Given the description of an element on the screen output the (x, y) to click on. 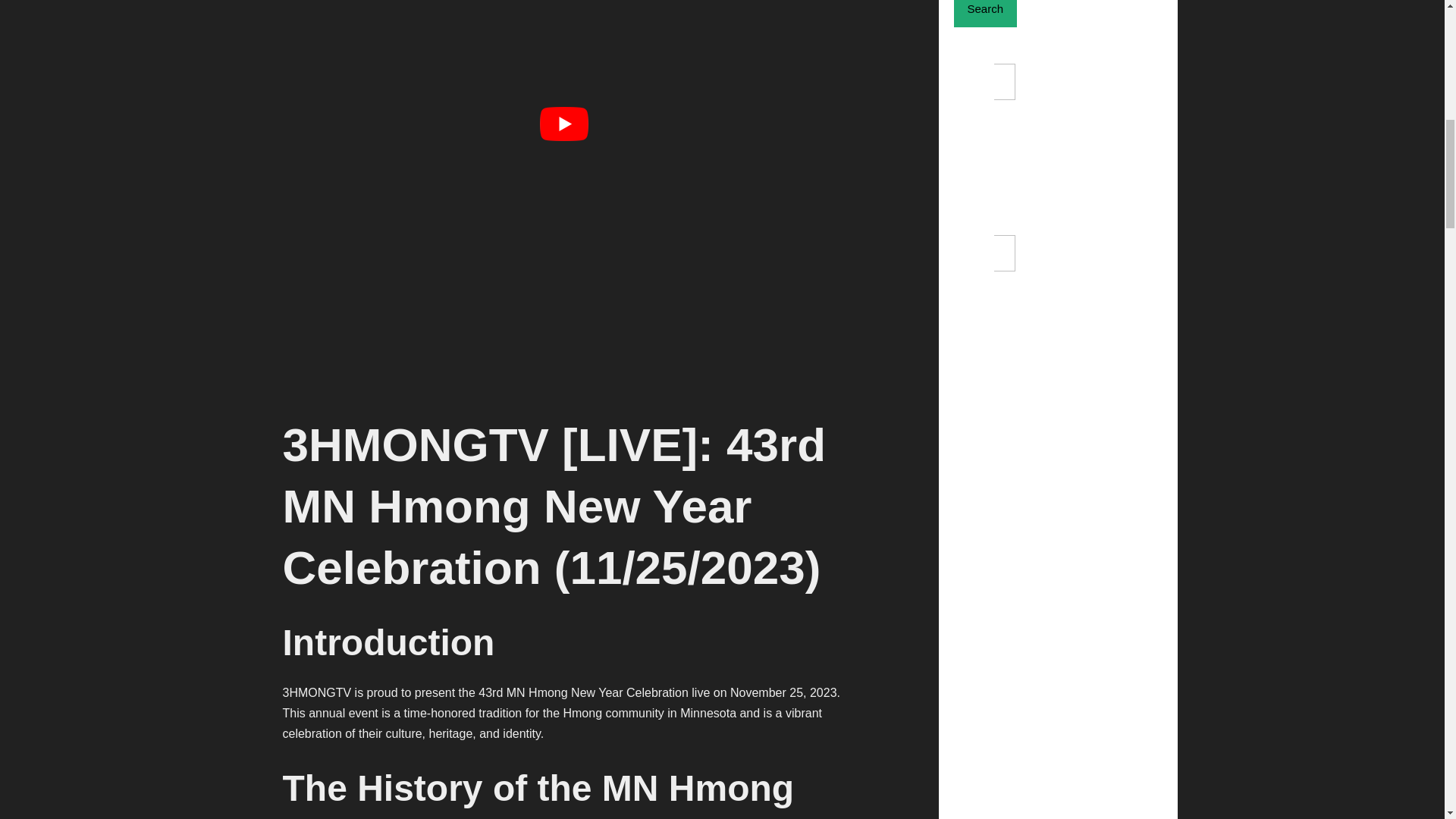
Search (985, 13)
What if my Channel was Netflix..? (1070, 132)
